Given the description of an element on the screen output the (x, y) to click on. 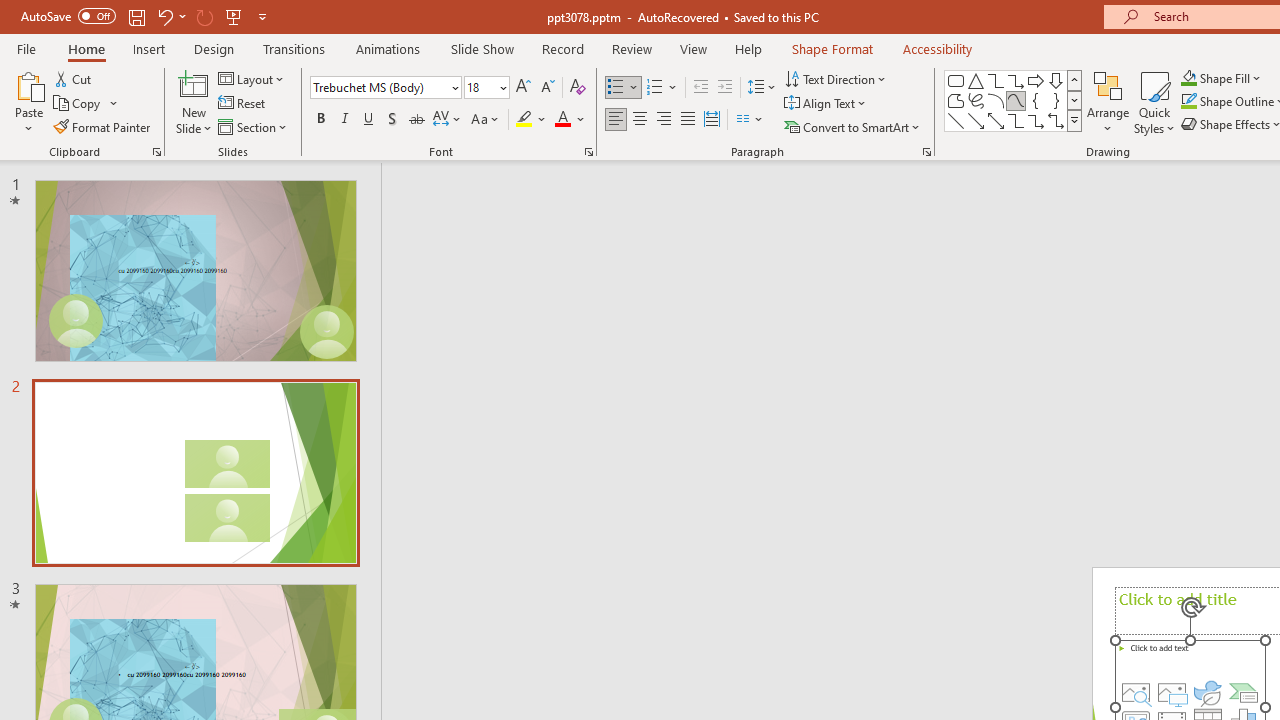
Insert a SmartArt Graphic (1243, 692)
Shape Outline Green, Accent 1 (1188, 101)
